Given the description of an element on the screen output the (x, y) to click on. 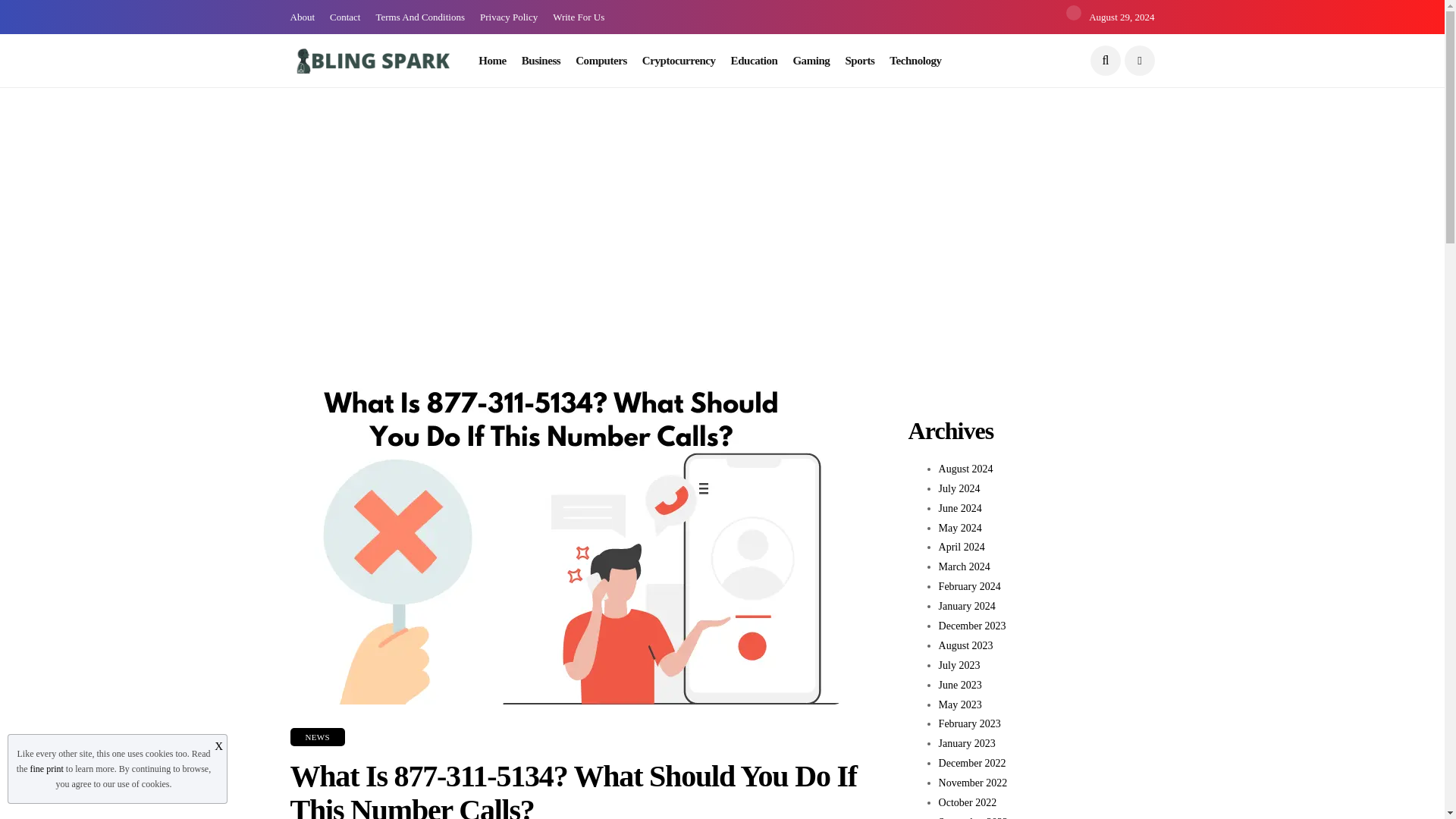
Cryptocurrency (679, 60)
Computers (601, 60)
Write For Us (578, 17)
Terms And Conditions (419, 17)
NEWS (316, 737)
Privacy Policy (508, 17)
Contact (344, 17)
Technology (914, 60)
